Given the description of an element on the screen output the (x, y) to click on. 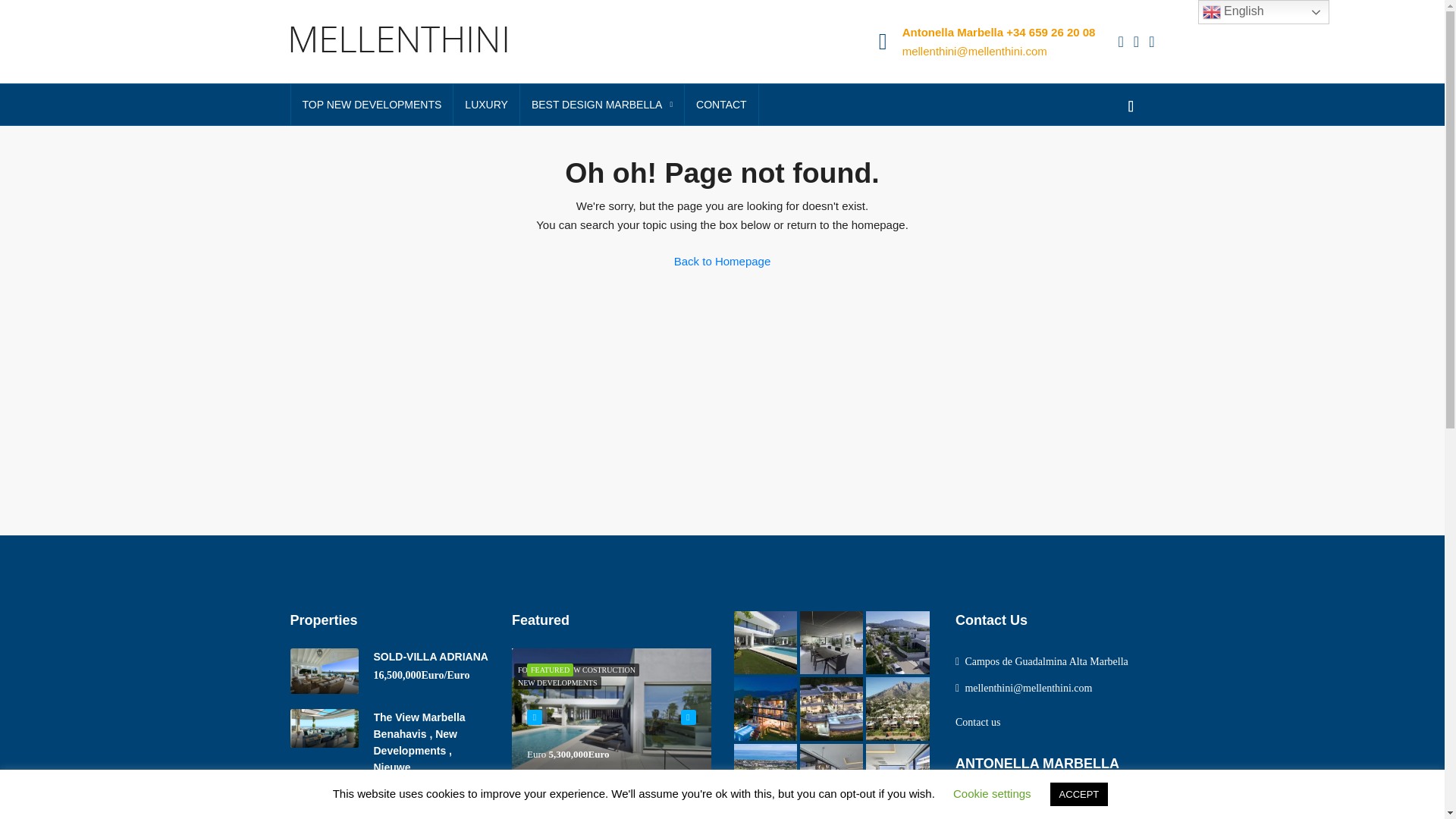
ANTONELLA MARBELLA (1011, 805)
LUXURY (485, 104)
CONTACT (721, 104)
Back to Homepage (722, 261)
SOLD-VILLA ADRIANA (429, 656)
BEST DESIGN MARBELLA (601, 104)
TOP NEW DEVELOPMENTS (371, 104)
